Given the description of an element on the screen output the (x, y) to click on. 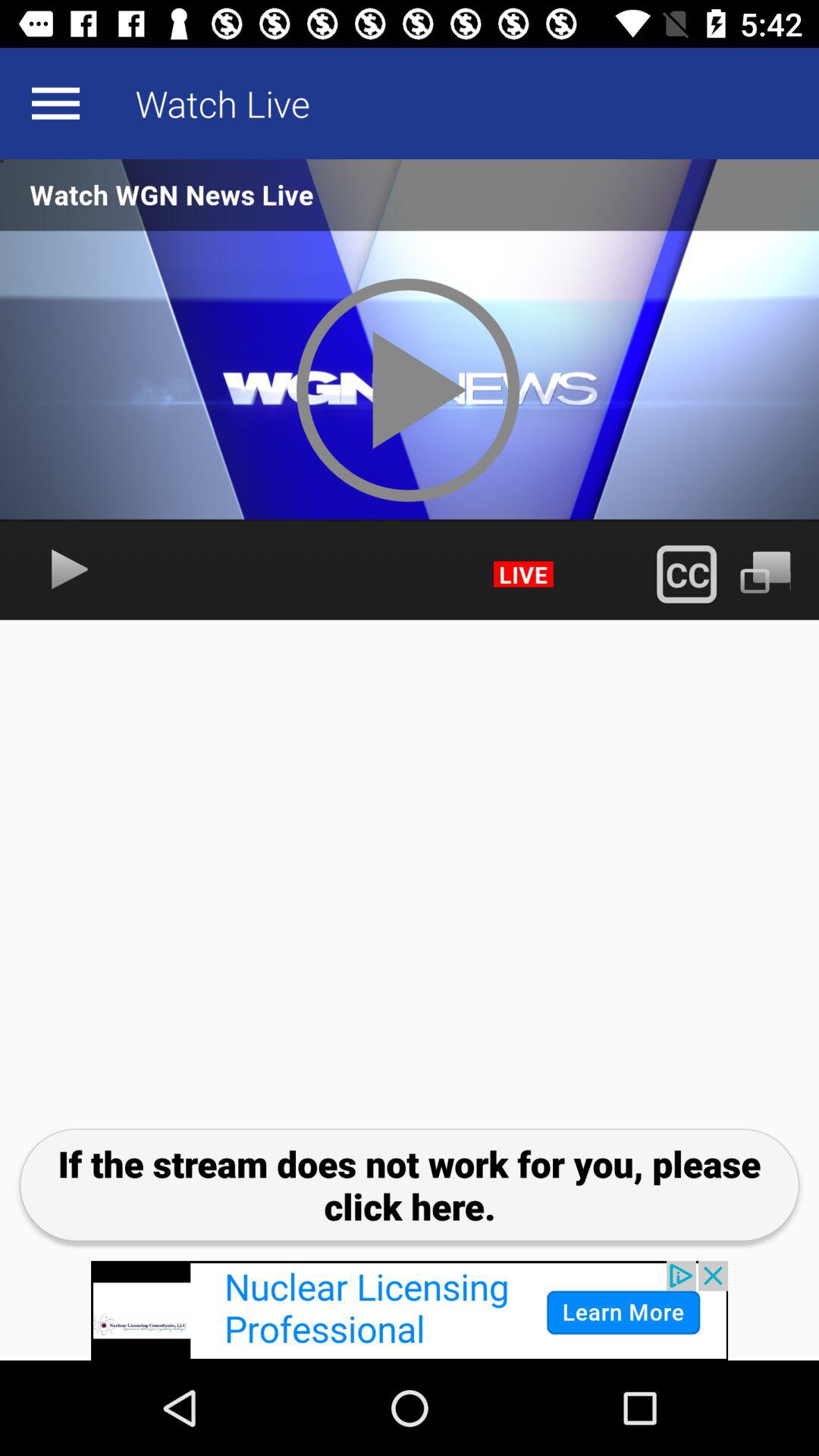
menu (55, 103)
